Given the description of an element on the screen output the (x, y) to click on. 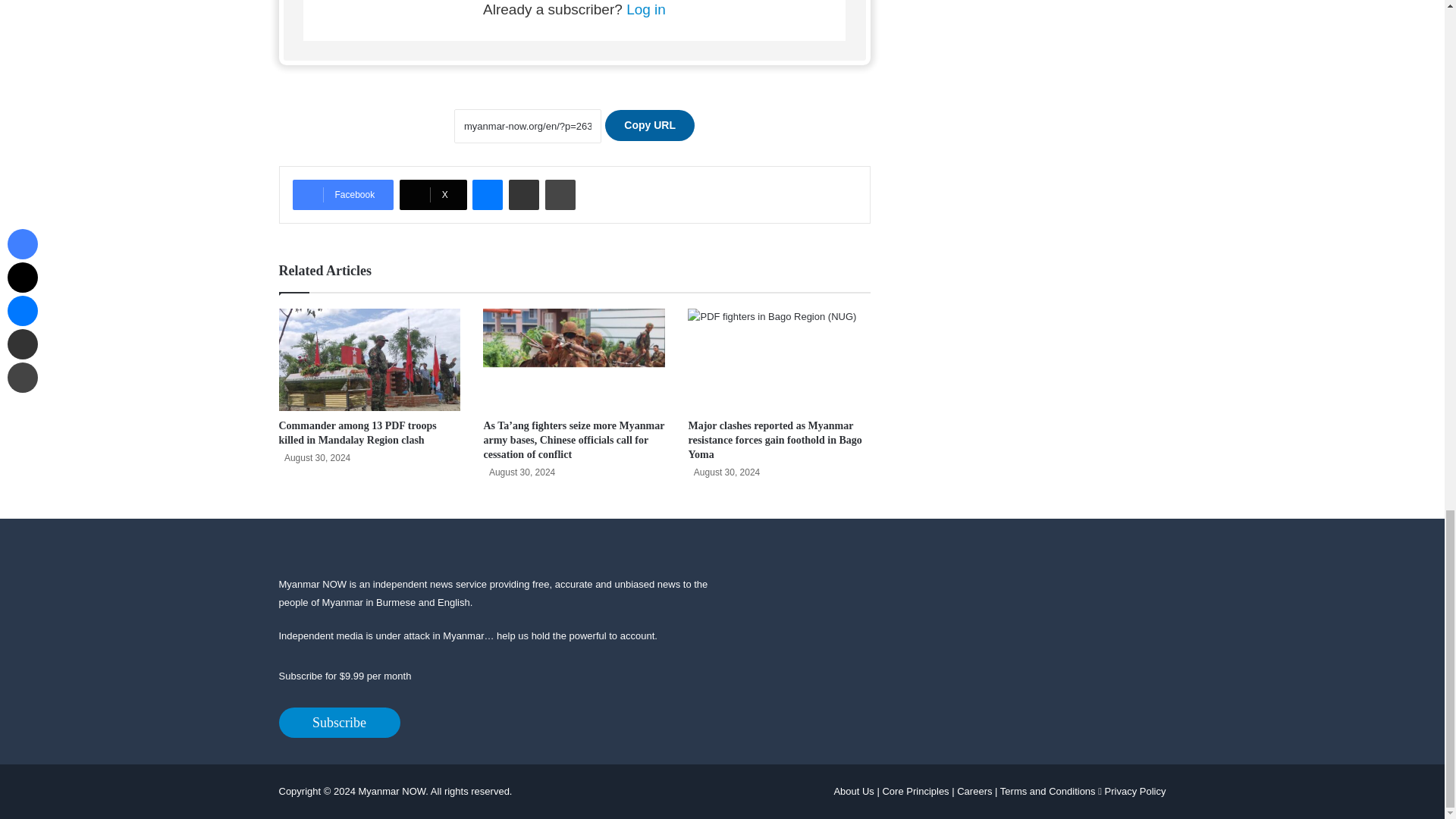
Copy URL (649, 124)
Log in (645, 9)
Print (559, 194)
Facebook (343, 194)
Messenger (486, 194)
Share via Email (523, 194)
Messenger (486, 194)
Facebook (343, 194)
Share via Email (523, 194)
